Given the description of an element on the screen output the (x, y) to click on. 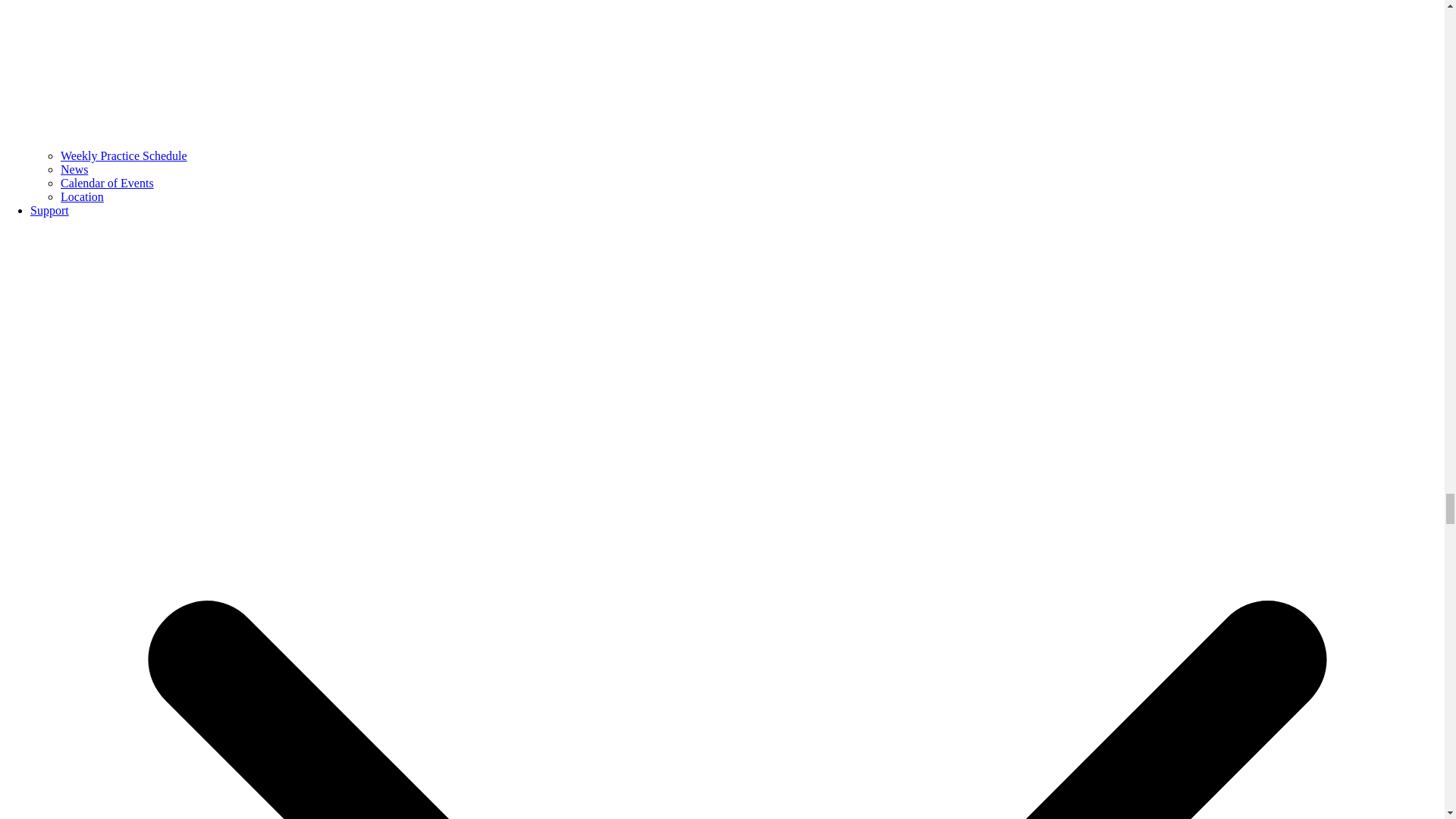
Location (82, 196)
Calendar of Events (107, 182)
Support (49, 210)
News (74, 169)
Weekly Practice Schedule (124, 155)
